Given the description of an element on the screen output the (x, y) to click on. 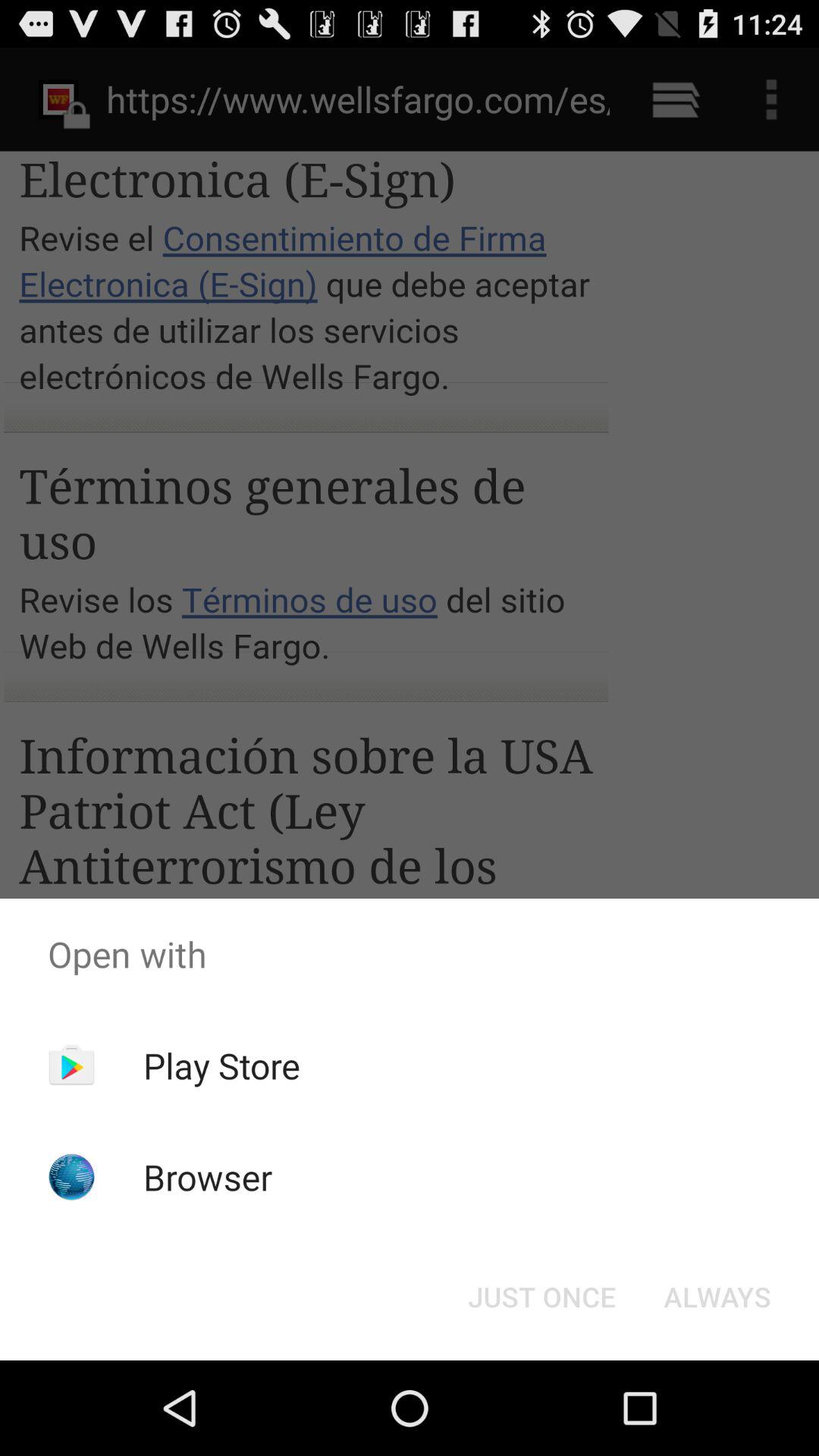
scroll until the browser item (207, 1176)
